Given the description of an element on the screen output the (x, y) to click on. 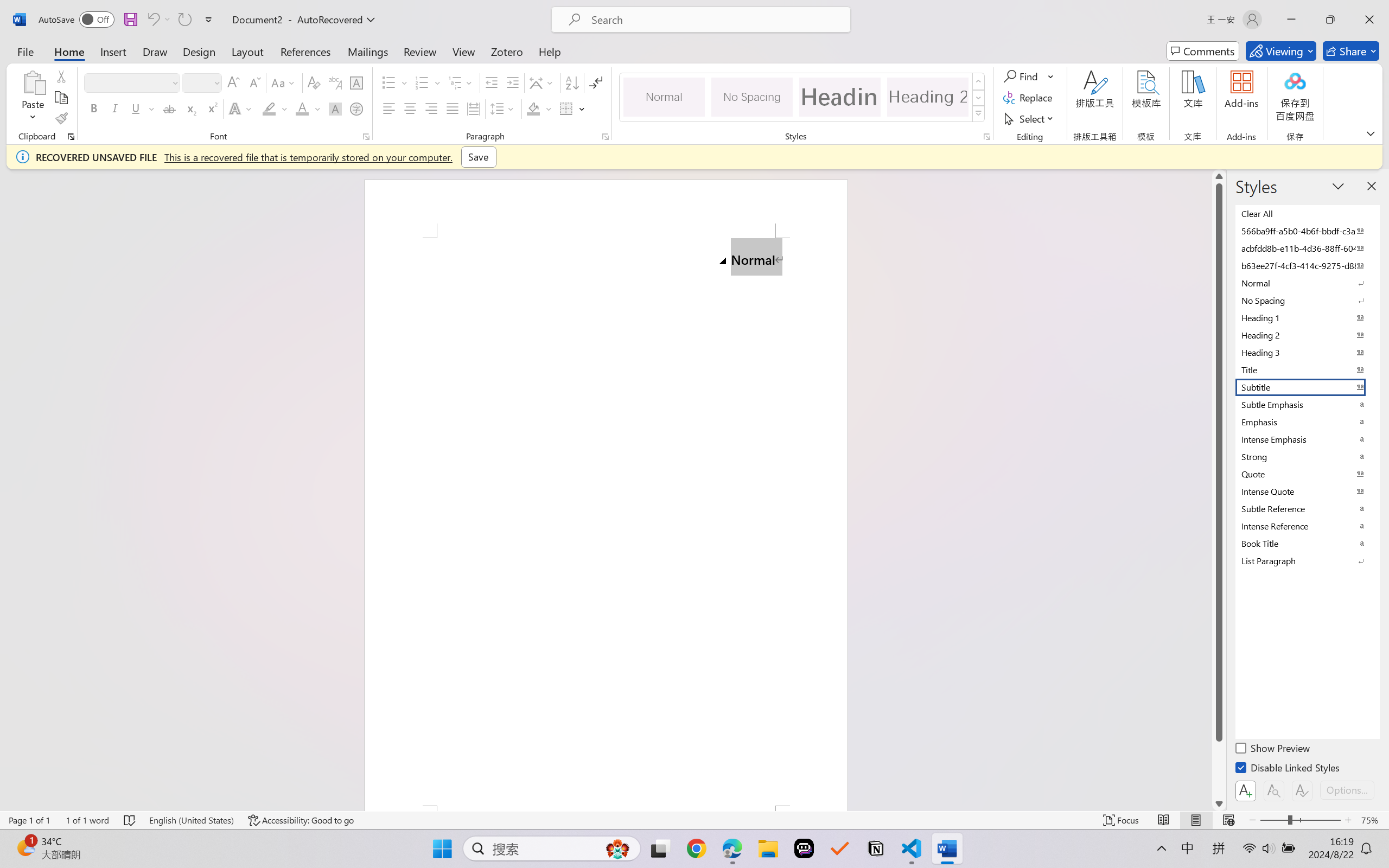
Font Color (308, 108)
Font Color RGB(255, 0, 0) (302, 108)
Replace... (1029, 97)
Show Preview (1273, 749)
Class: MsoCommandBar (694, 819)
Shrink Font (253, 82)
Change Case (284, 82)
Emphasis (1306, 421)
Character Shading (334, 108)
